Given the description of an element on the screen output the (x, y) to click on. 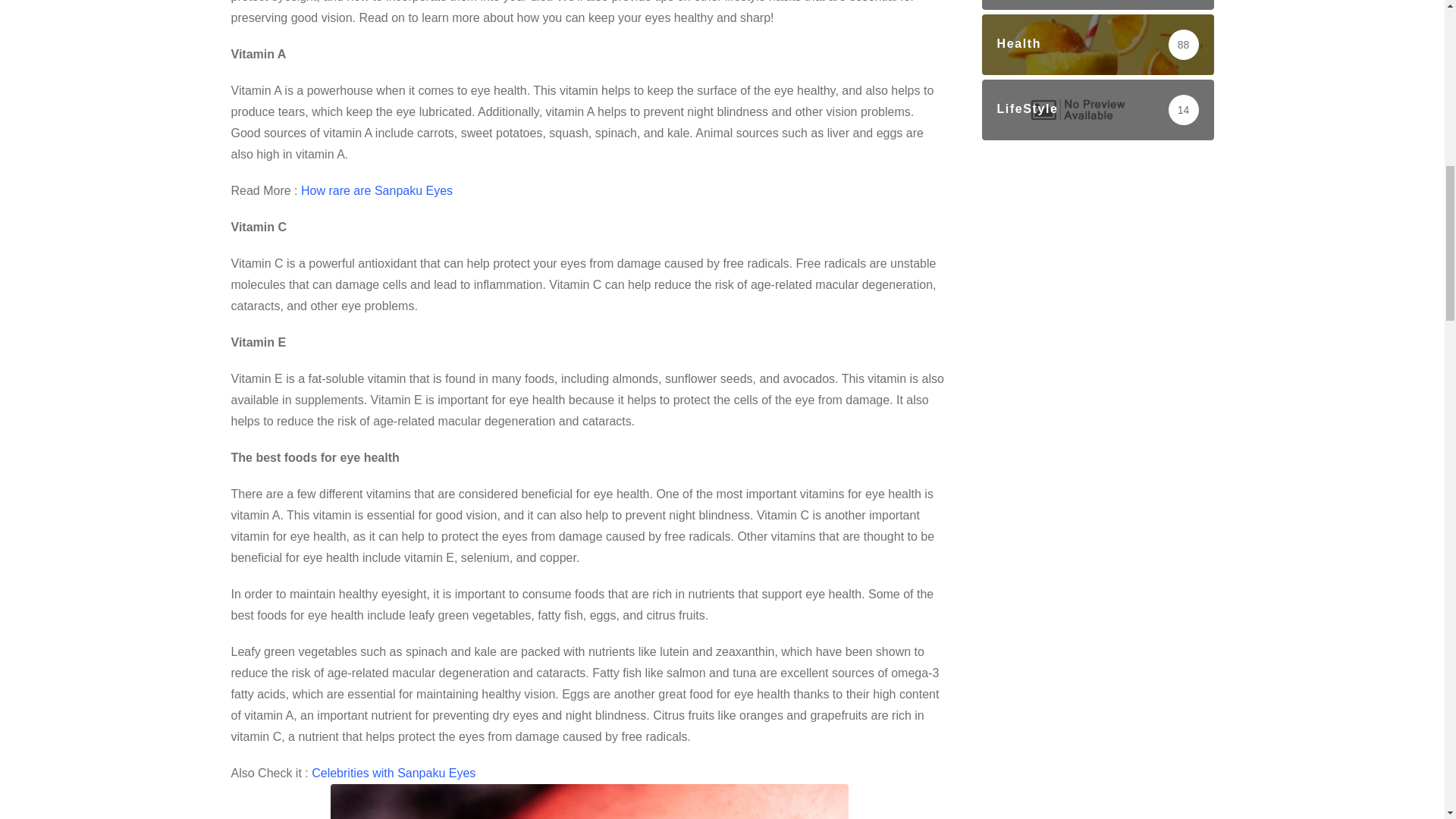
Celebrities with Sanpaku Eyes (588, 792)
How rare are Sanpaku Eyes (376, 190)
